Given the description of an element on the screen output the (x, y) to click on. 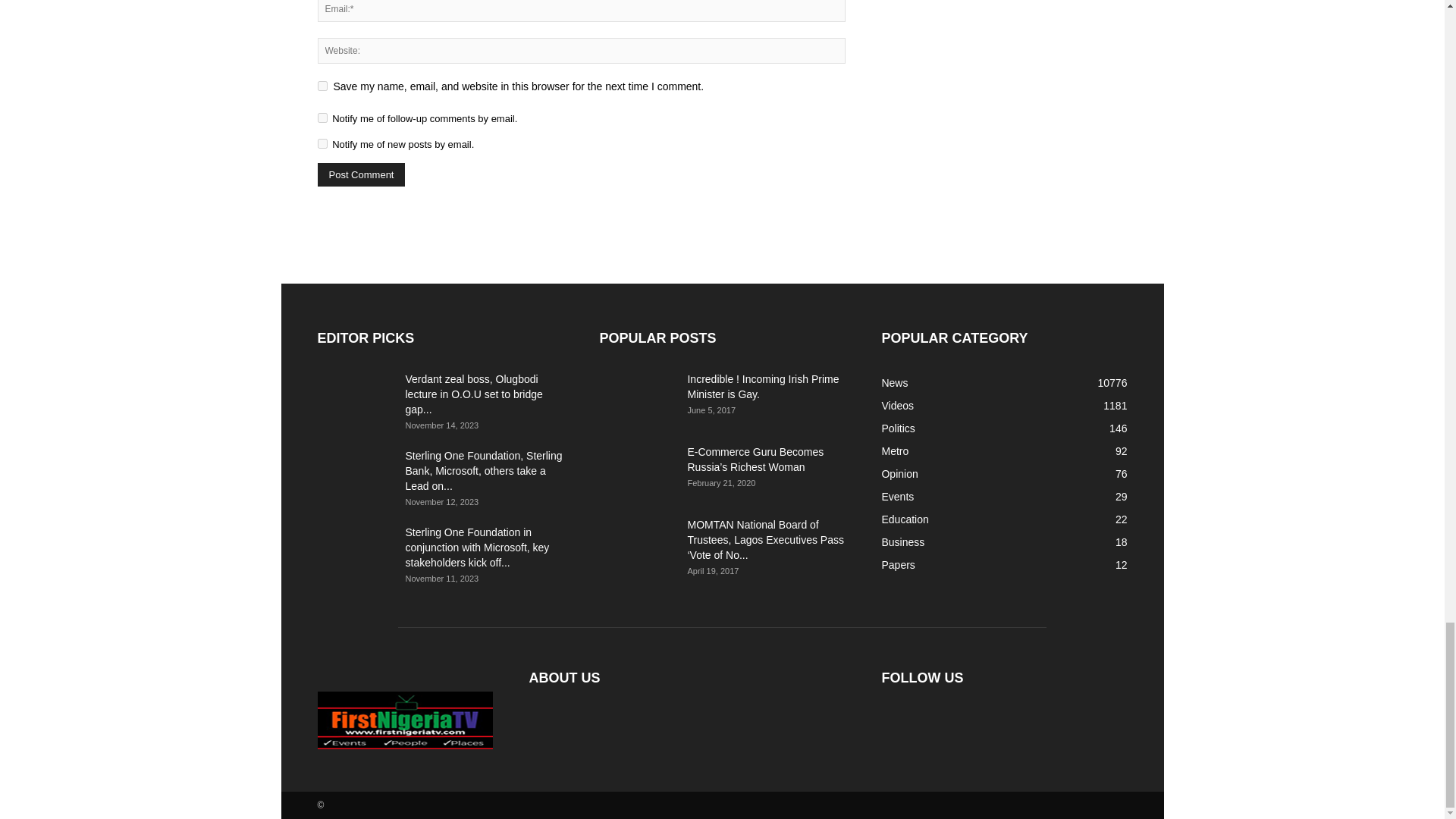
yes (321, 85)
Post Comment (360, 174)
subscribe (321, 143)
subscribe (321, 117)
